Given the description of an element on the screen output the (x, y) to click on. 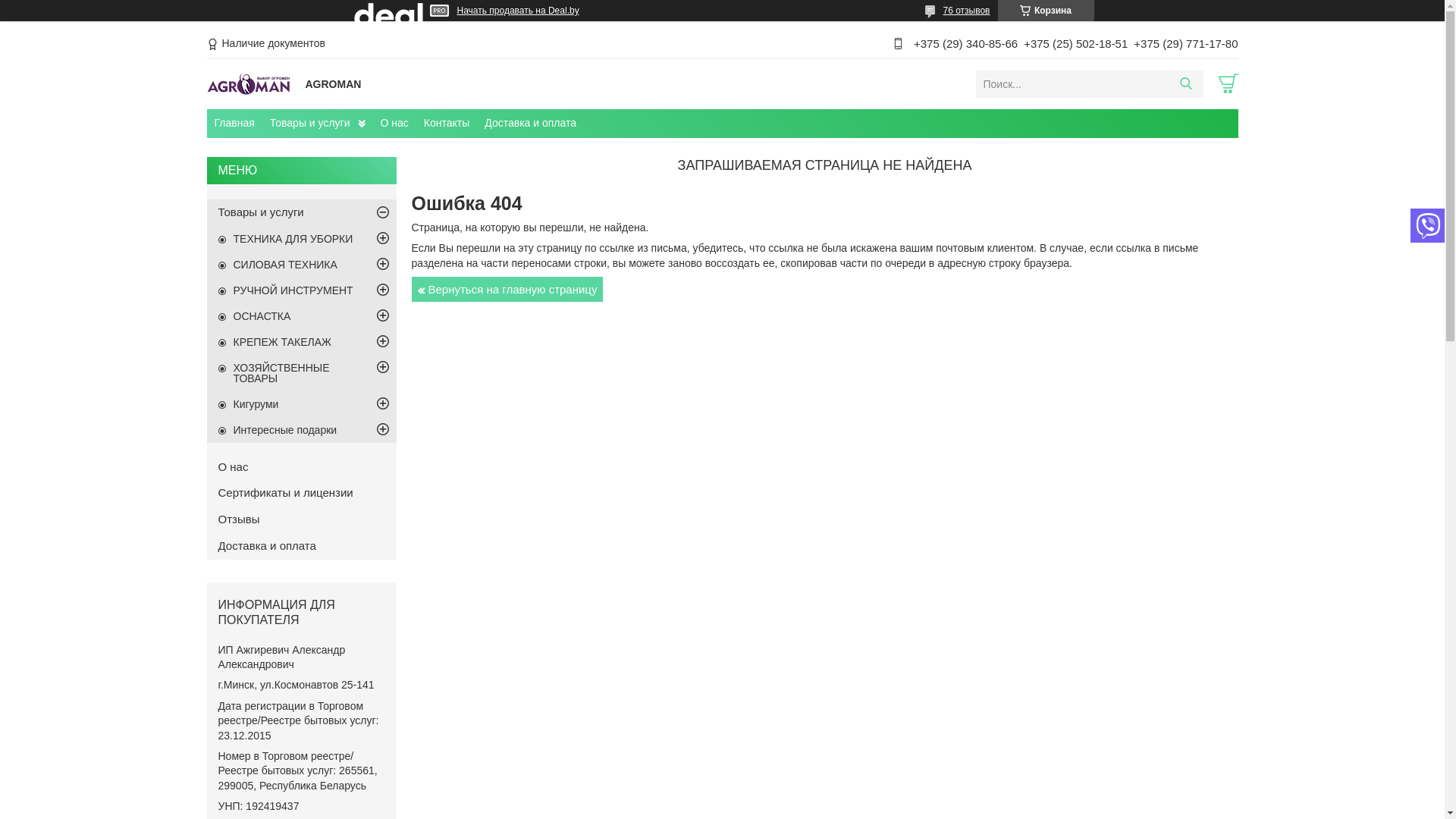
AGROMAN Element type: hover (251, 83)
